Given the description of an element on the screen output the (x, y) to click on. 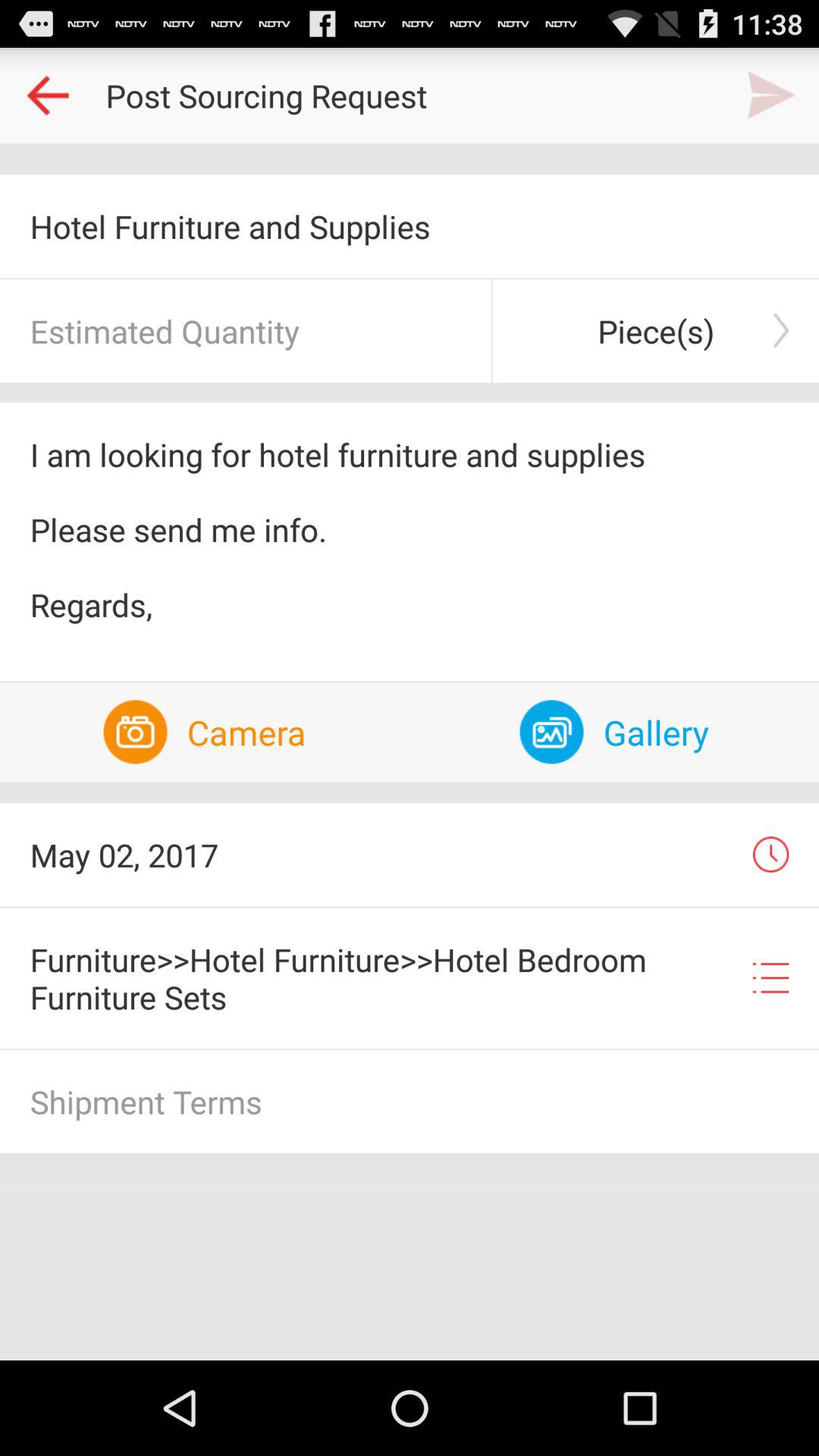
go back (47, 95)
